Given the description of an element on the screen output the (x, y) to click on. 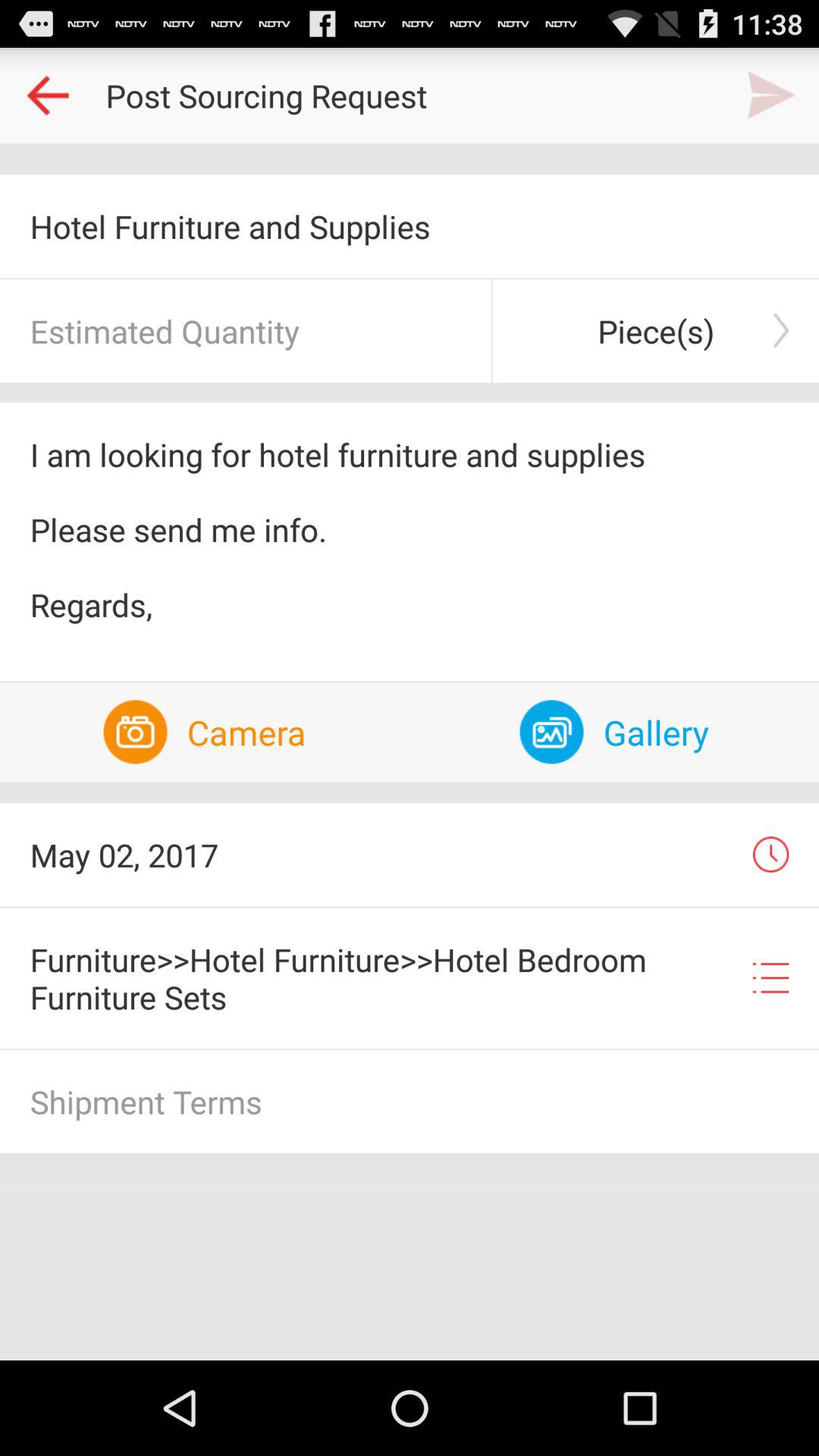
go back (47, 95)
